Given the description of an element on the screen output the (x, y) to click on. 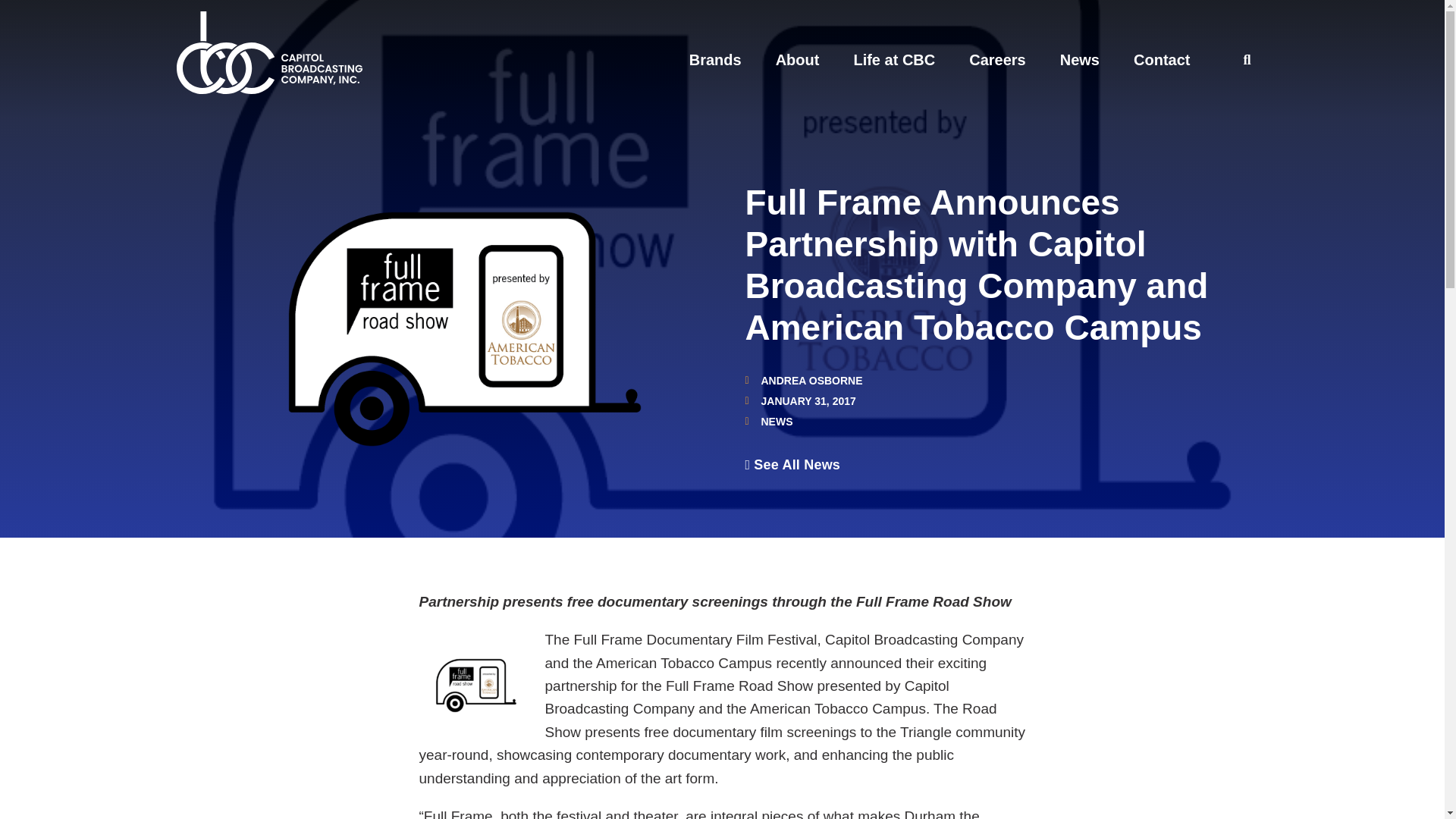
News (1079, 59)
See All News (792, 464)
NEWS (777, 421)
Life at CBC (893, 59)
About (797, 59)
Careers (997, 59)
Contact (1161, 59)
ANDREA OSBORNE (802, 380)
Brands (714, 59)
JANUARY 31, 2017 (800, 400)
